Given the description of an element on the screen output the (x, y) to click on. 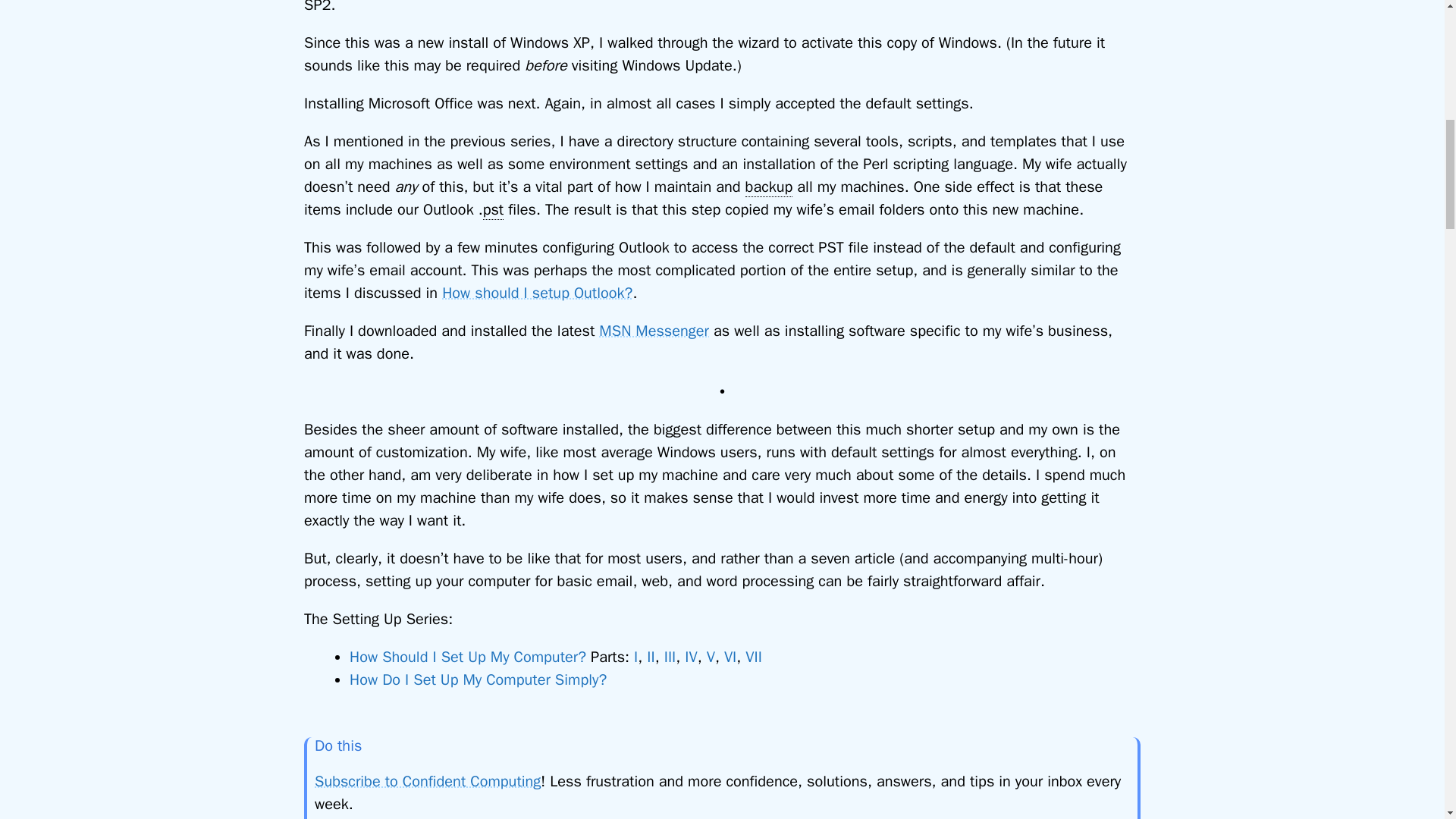
Scroll back to top (1406, 720)
How Should I Set Up My Computer? (467, 656)
MSN Messenger (653, 330)
Subscribe to Confident Computing (427, 781)
How should I setup Outlook? (536, 292)
backup (769, 187)
pst (493, 209)
How Do I Set Up My Computer Simply? (478, 679)
